Given the description of an element on the screen output the (x, y) to click on. 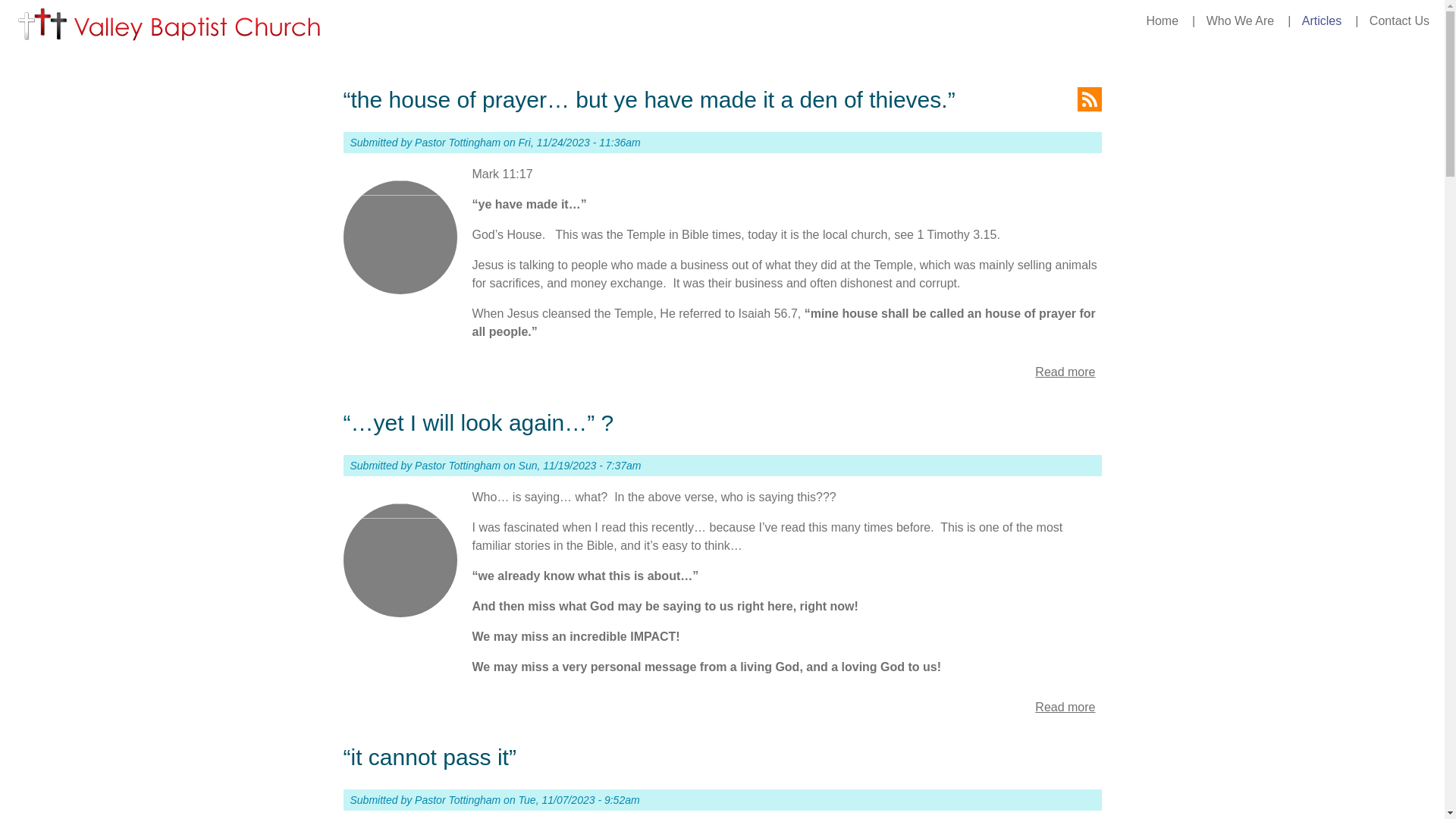
Contact Us Element type: text (1399, 20)
Articles Element type: text (1321, 20)
Home Element type: text (1161, 20)
Valley Baptist Church Element type: hover (169, 25)
  Element type: text (1088, 99)
Skip to main content Element type: text (54, 0)
Who We Are Element type: text (1240, 20)
